Given the description of an element on the screen output the (x, y) to click on. 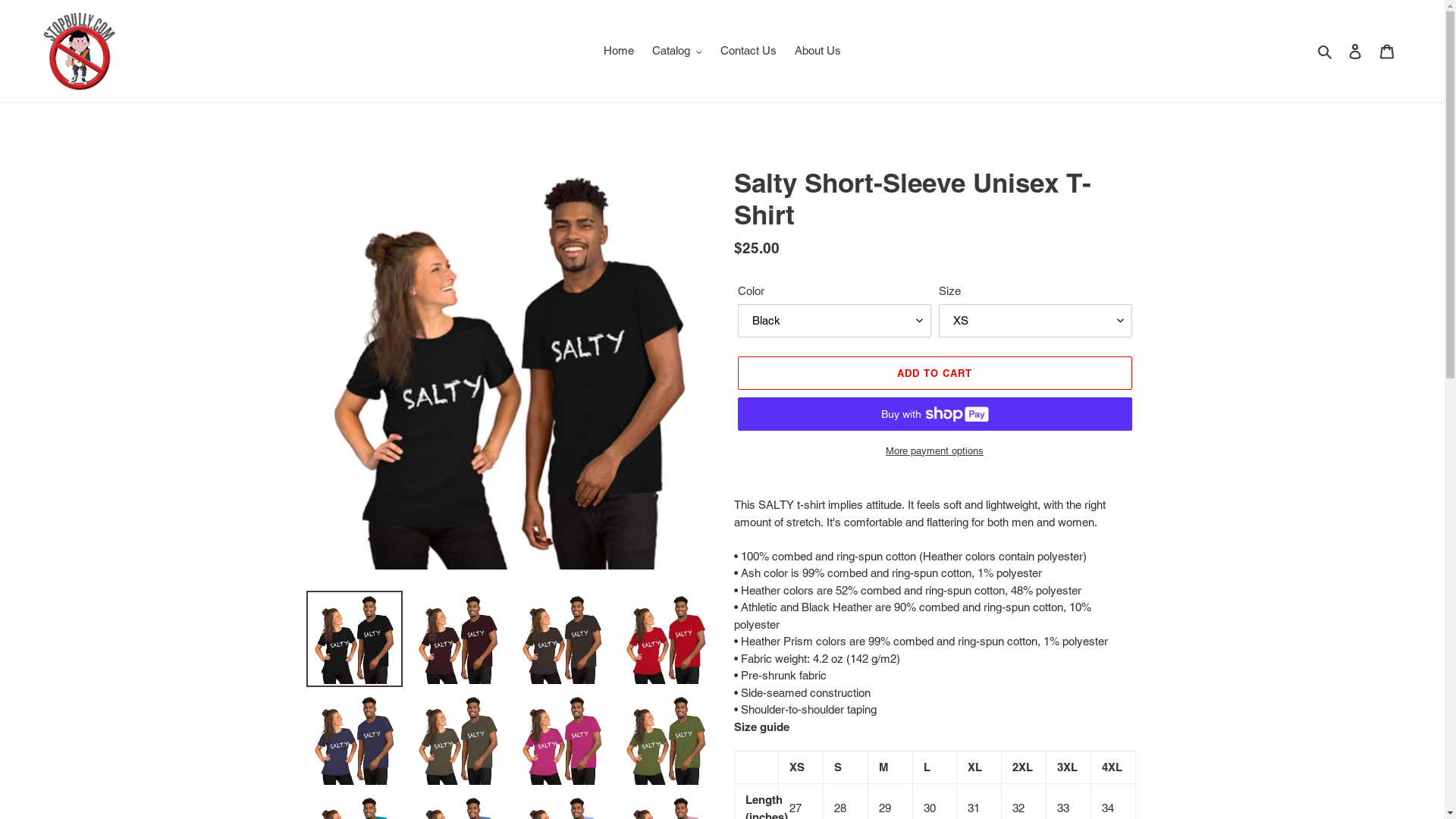
Home Element type: text (618, 51)
About Us Element type: text (817, 51)
Search Element type: text (1325, 50)
Catalog Element type: text (676, 51)
More payment options Element type: text (934, 450)
Contact Us Element type: text (748, 51)
Log in Element type: text (1355, 50)
Cart Element type: text (1386, 50)
ADD TO CART Element type: text (934, 372)
